Given the description of an element on the screen output the (x, y) to click on. 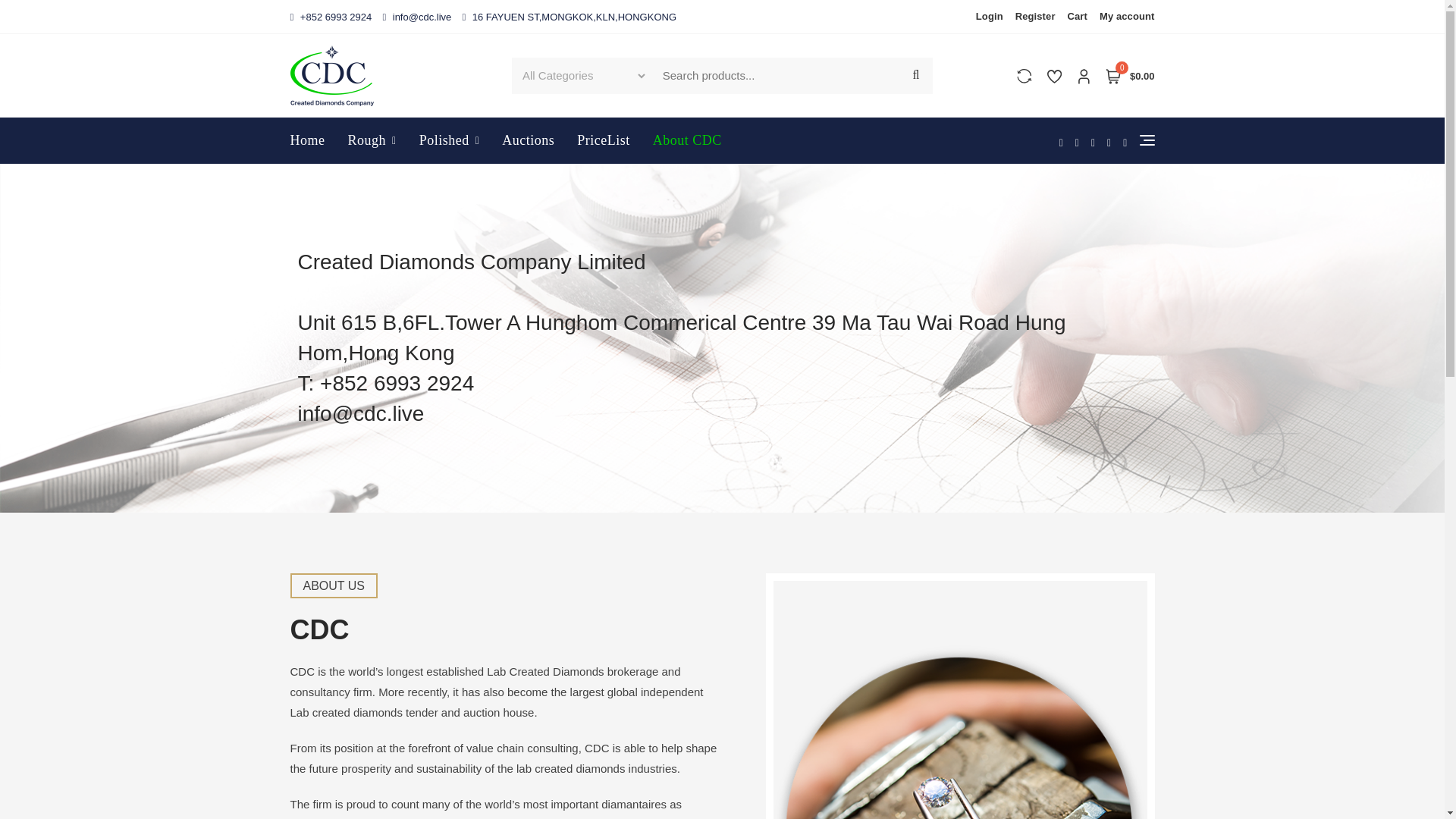
About CDC (687, 140)
Login (992, 17)
Auctions (528, 140)
Rough (371, 140)
Cart (1077, 17)
Register (1035, 17)
PriceList (604, 140)
Polished (449, 140)
Home (312, 140)
My account (1123, 17)
